Given the description of an element on the screen output the (x, y) to click on. 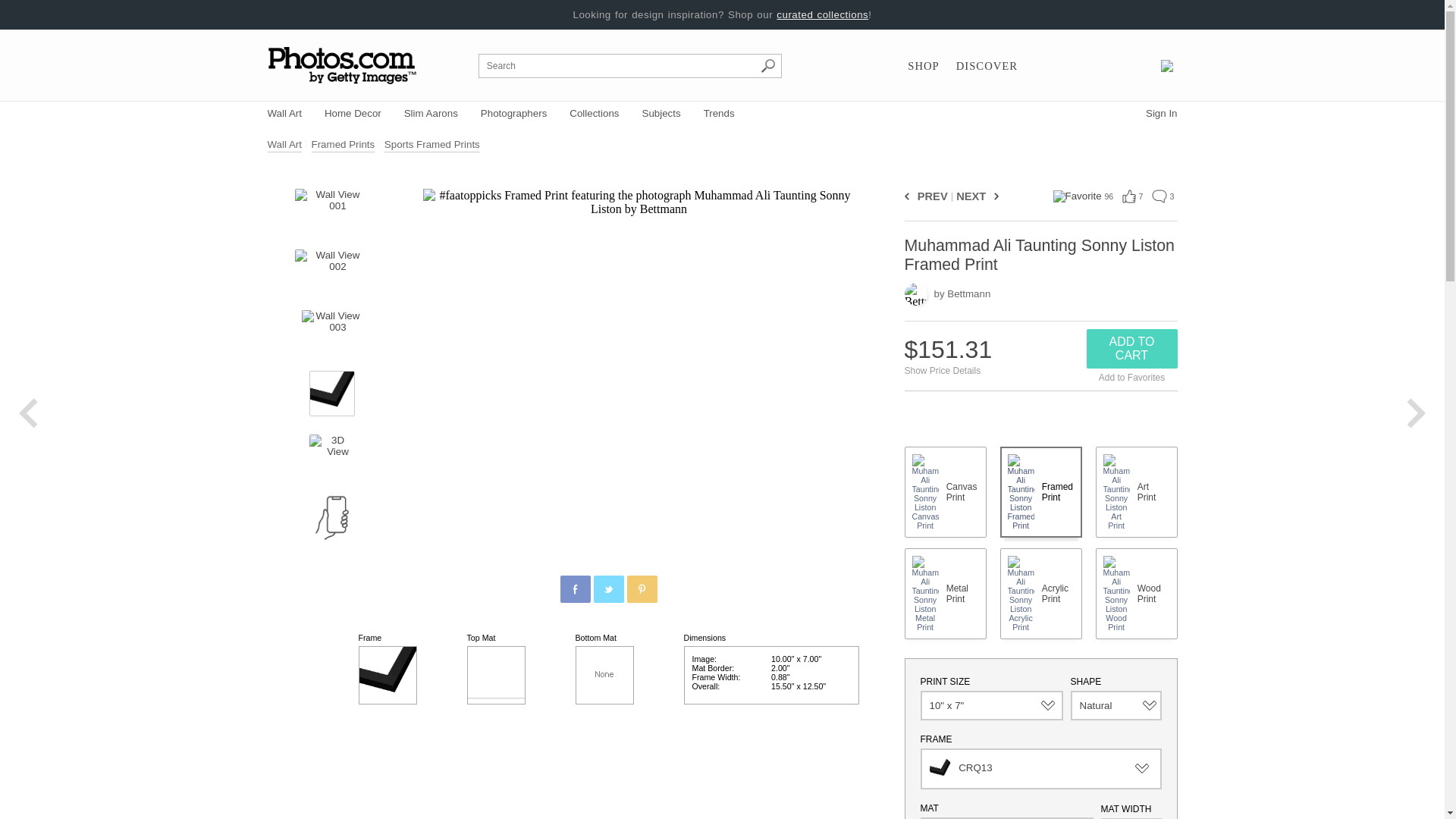
3D View (331, 456)
Wall View 003 (331, 332)
Wall View 002 (331, 271)
Share Product on Pinterest (641, 588)
Selected Frame (387, 675)
Favorite (1077, 196)
curated collections (821, 14)
Twitter (609, 588)
Bottom Mat (604, 675)
Frame Detail (331, 393)
